Given the description of an element on the screen output the (x, y) to click on. 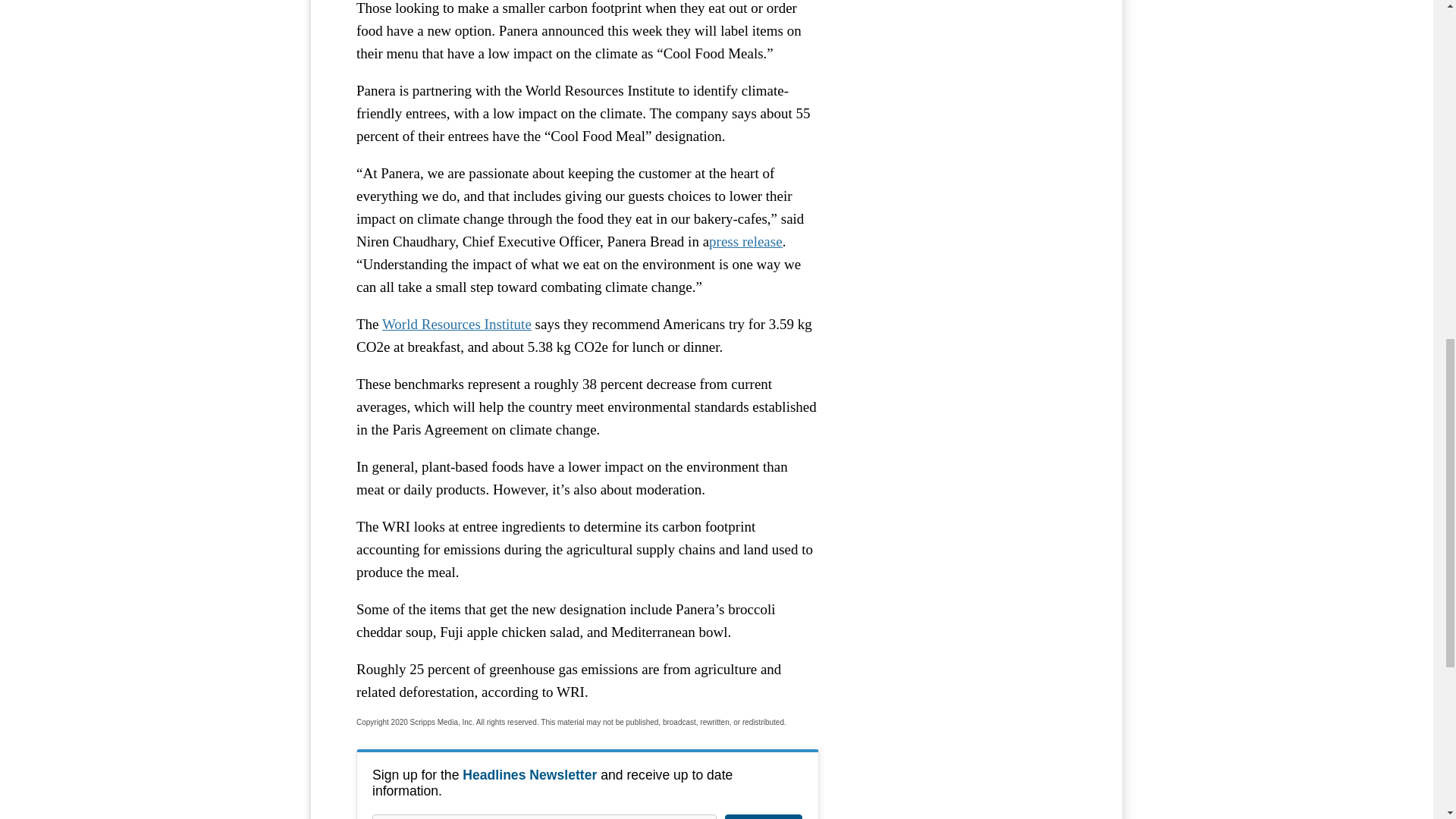
Submit (763, 816)
